Given the description of an element on the screen output the (x, y) to click on. 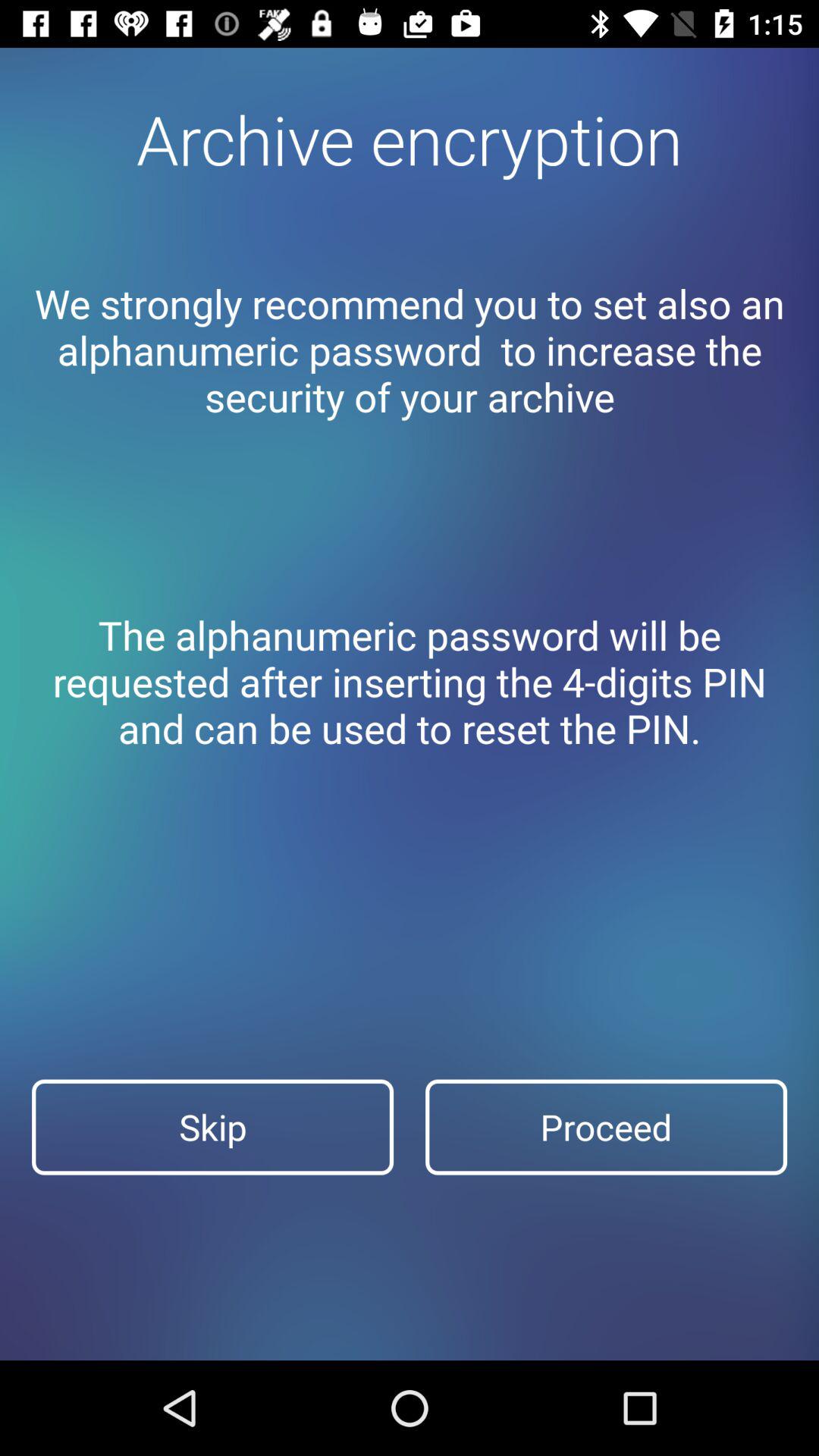
launch the item to the right of the skip icon (606, 1127)
